Given the description of an element on the screen output the (x, y) to click on. 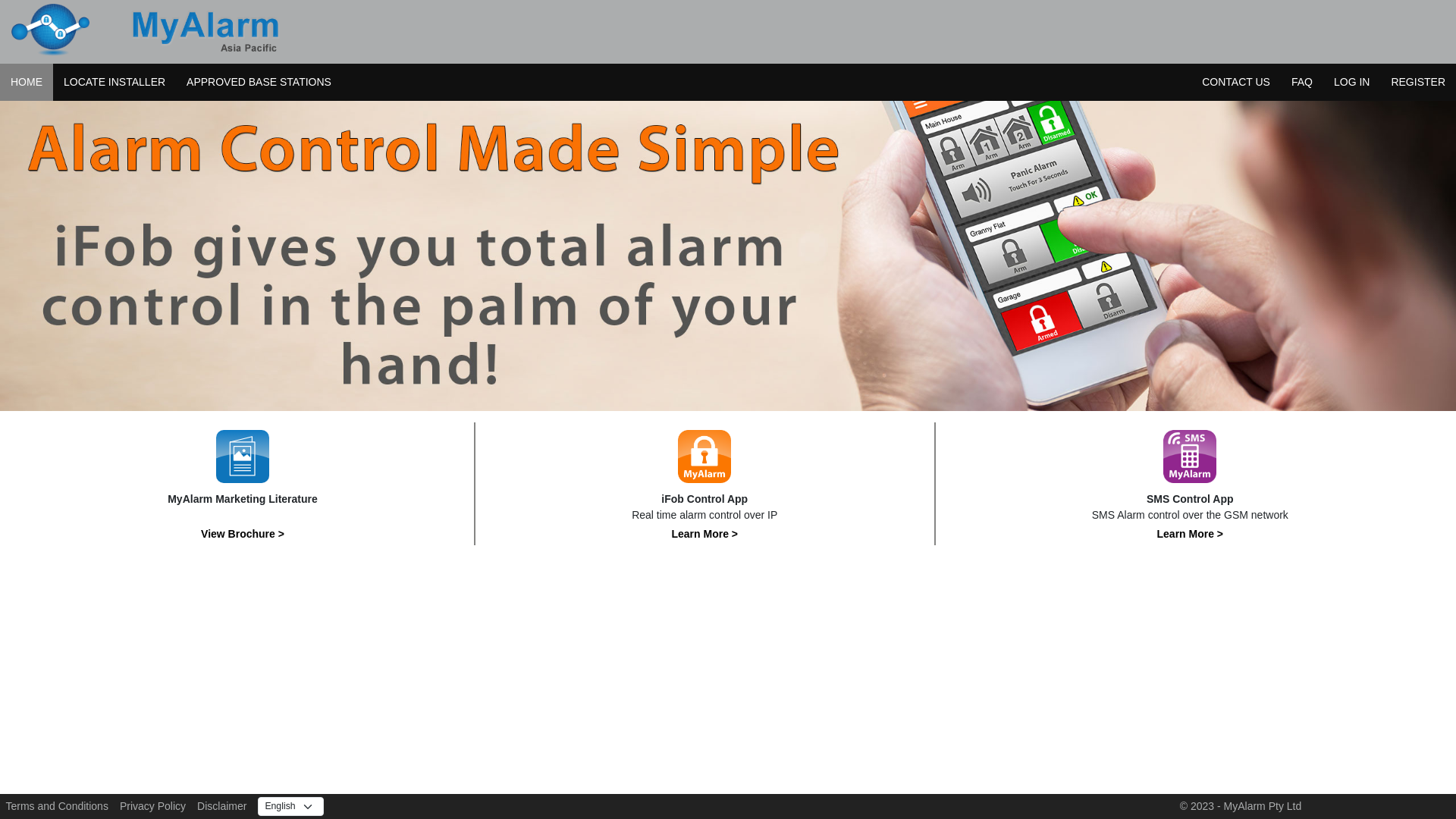
Privacy Policy Element type: text (152, 806)
LOCATE INSTALLER Element type: text (114, 81)
FAQ Element type: text (1301, 81)
LOG IN Element type: text (1351, 81)
CONTACT US Element type: text (1235, 81)
Terms and Conditions Element type: text (57, 806)
Learn More > Element type: text (1190, 534)
View Brochure > Element type: text (242, 534)
HOME Element type: text (26, 81)
APPROVED BASE STATIONS Element type: text (258, 81)
Learn More > Element type: text (704, 534)
Disclaimer Element type: text (221, 806)
